Given the description of an element on the screen output the (x, y) to click on. 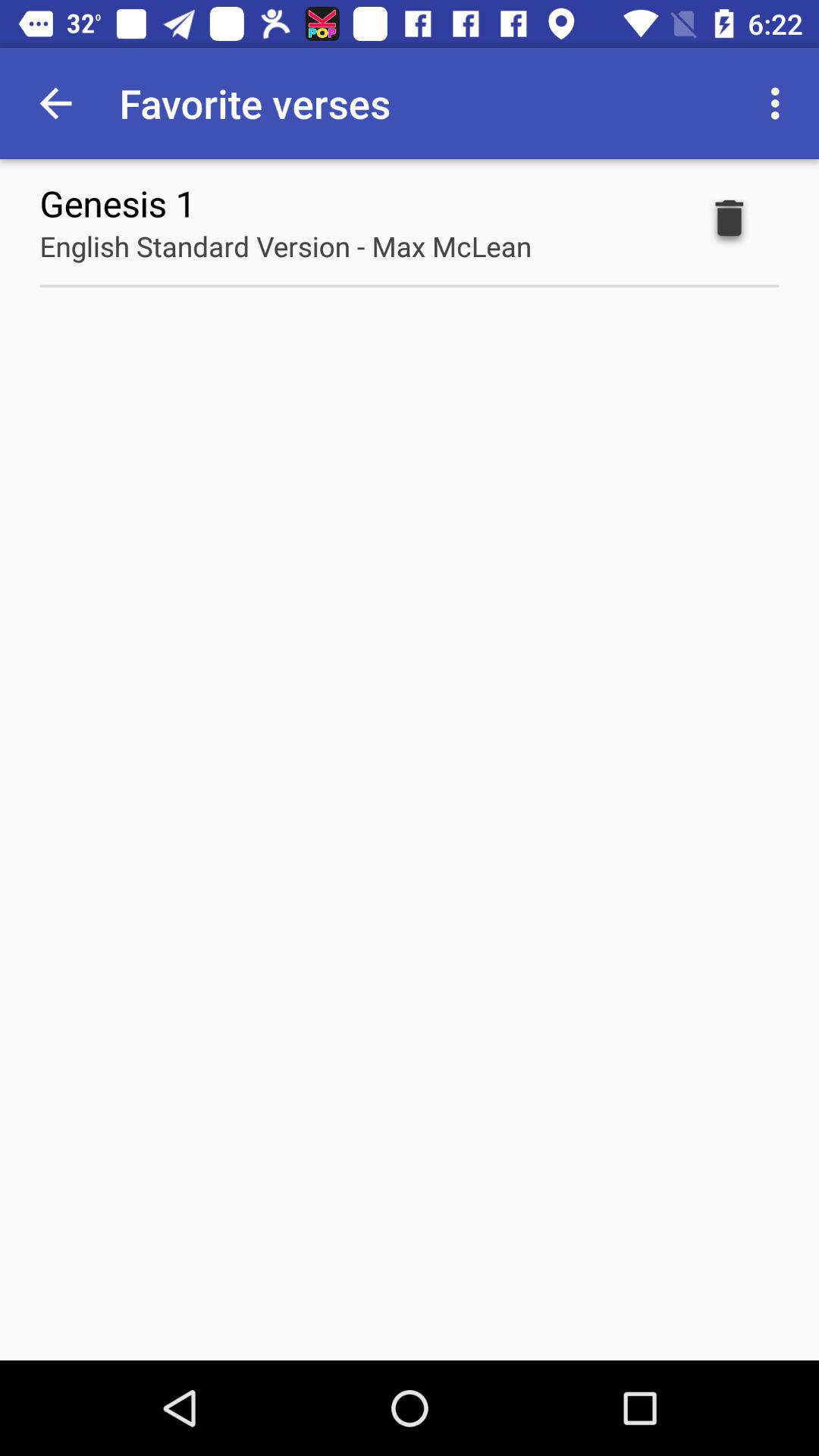
launch the icon below the genesis 1 item (285, 246)
